Given the description of an element on the screen output the (x, y) to click on. 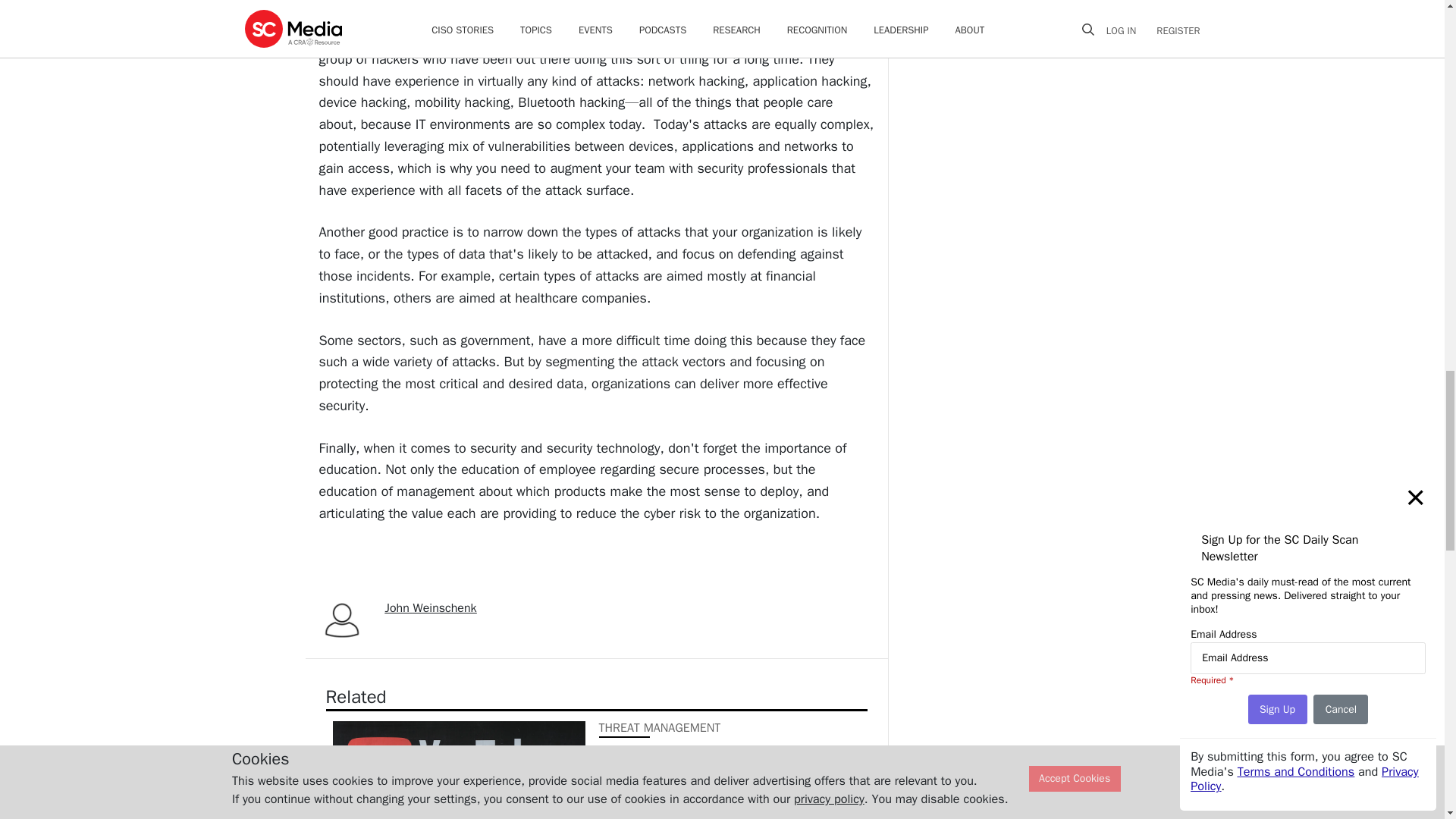
3rd party ad content (1012, 63)
THREAT MANAGEMENT (659, 727)
John Weinschenk (431, 607)
Steve Zurier (622, 817)
